Given the description of an element on the screen output the (x, y) to click on. 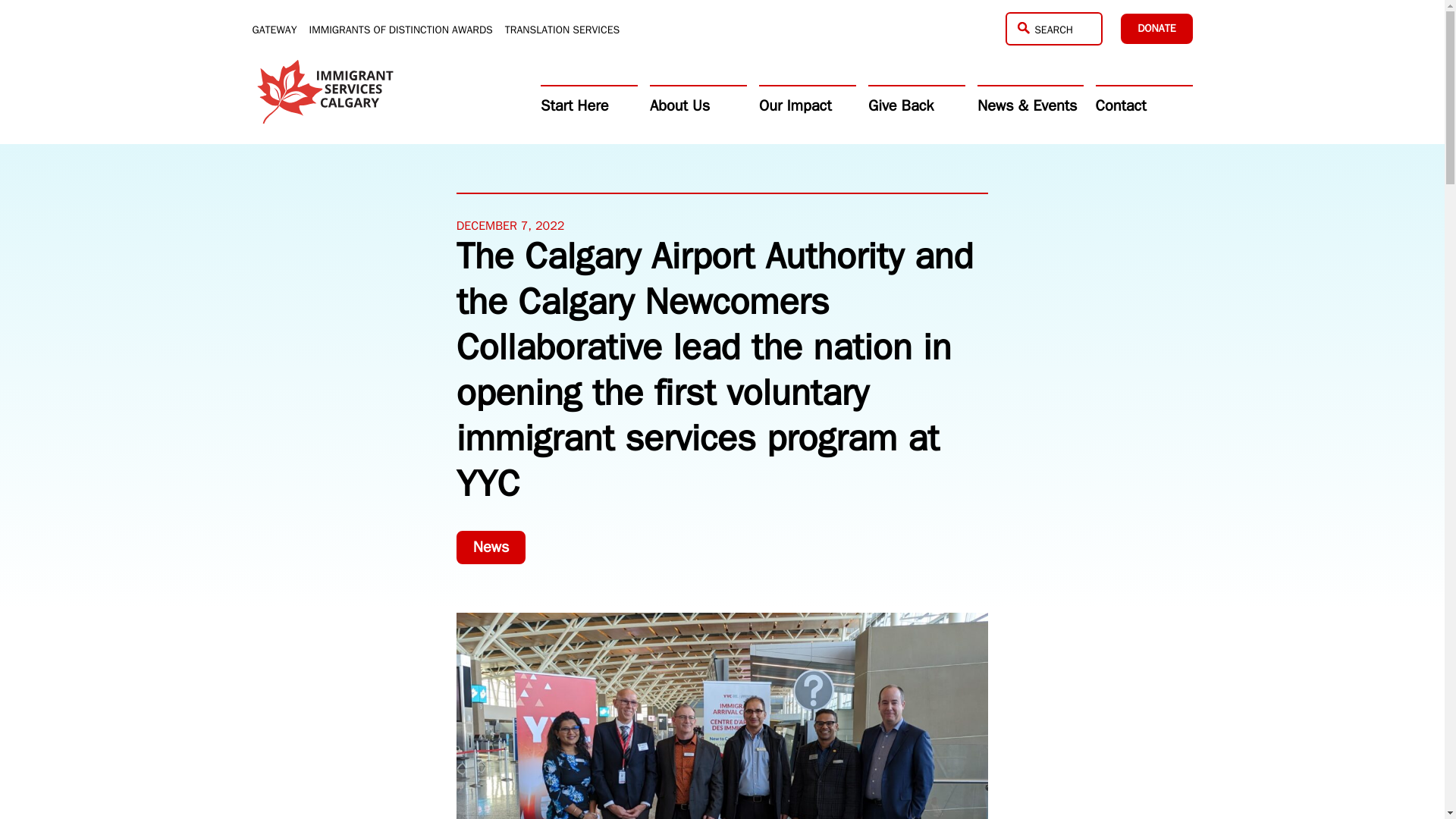
Start Here (588, 105)
GATEWAY (274, 29)
About Us (697, 105)
TRANSLATION SERVICES (562, 29)
DONATE (1156, 28)
Our Impact (807, 105)
Contact (1143, 105)
Give Back (916, 105)
IMMIGRANTS OF DISTINCTION AWARDS (400, 29)
